Given the description of an element on the screen output the (x, y) to click on. 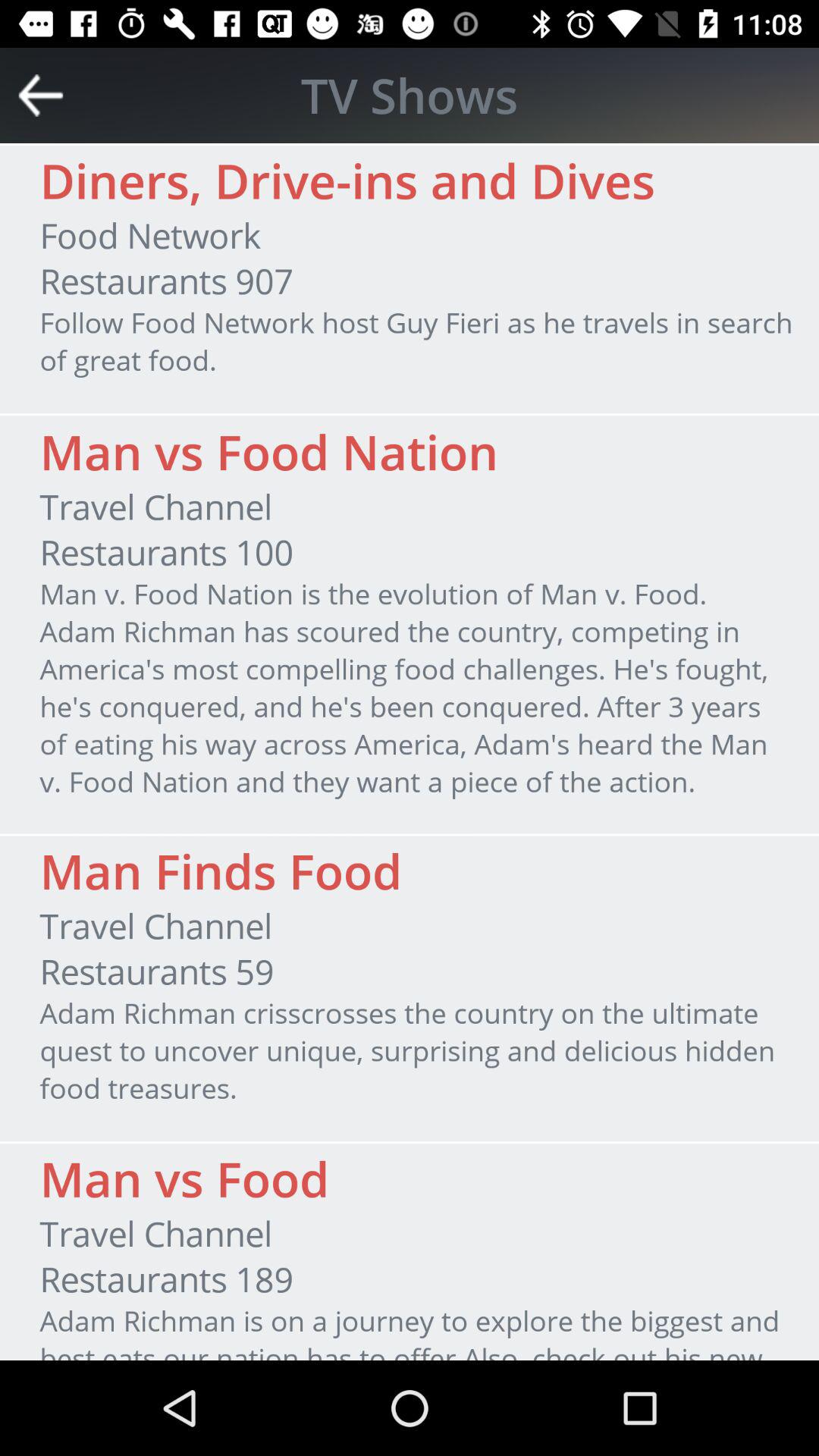
press item above the follow food network icon (166, 280)
